Given the description of an element on the screen output the (x, y) to click on. 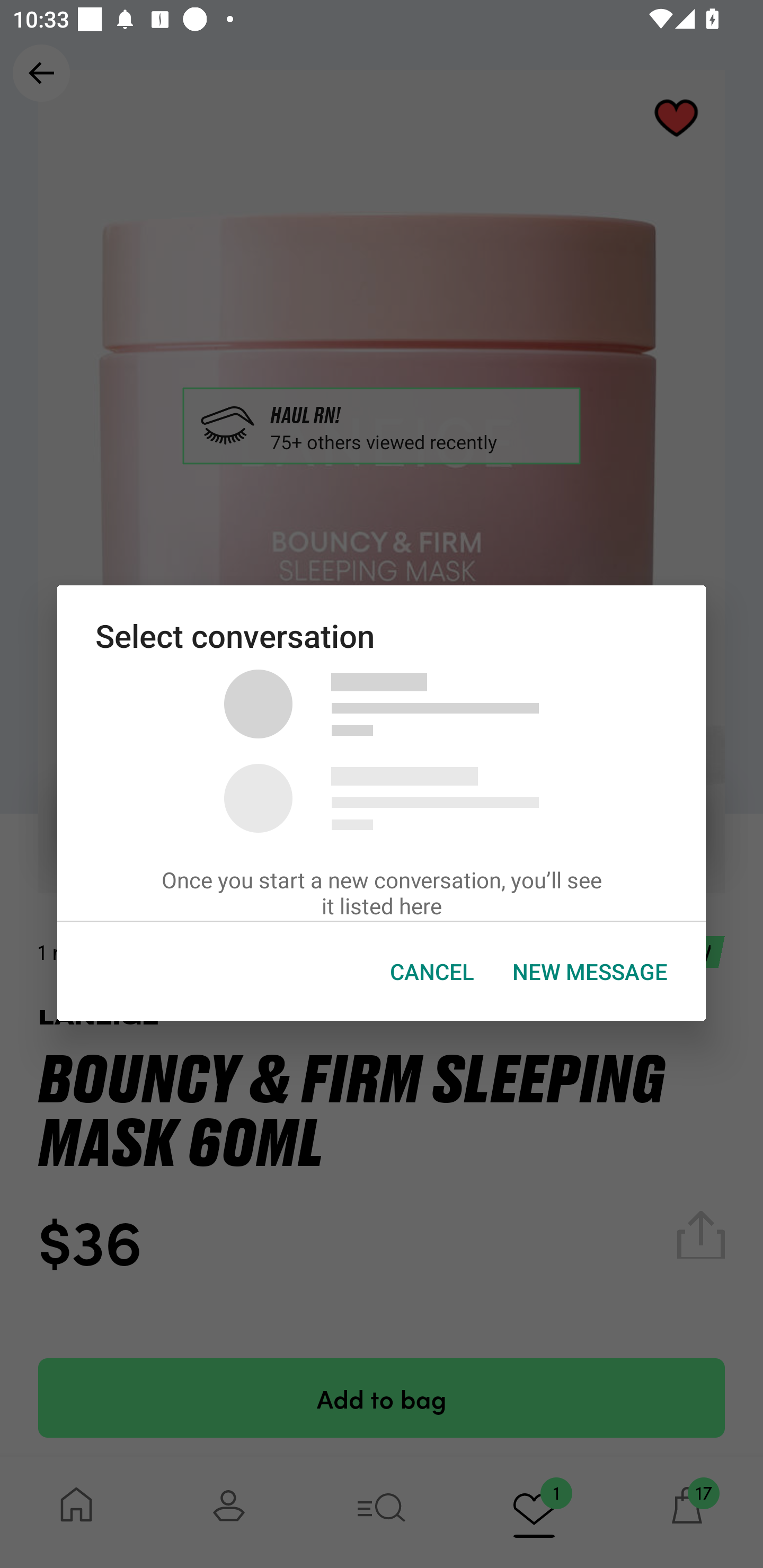
CANCEL (431, 971)
NEW MESSAGE (589, 971)
